Given the description of an element on the screen output the (x, y) to click on. 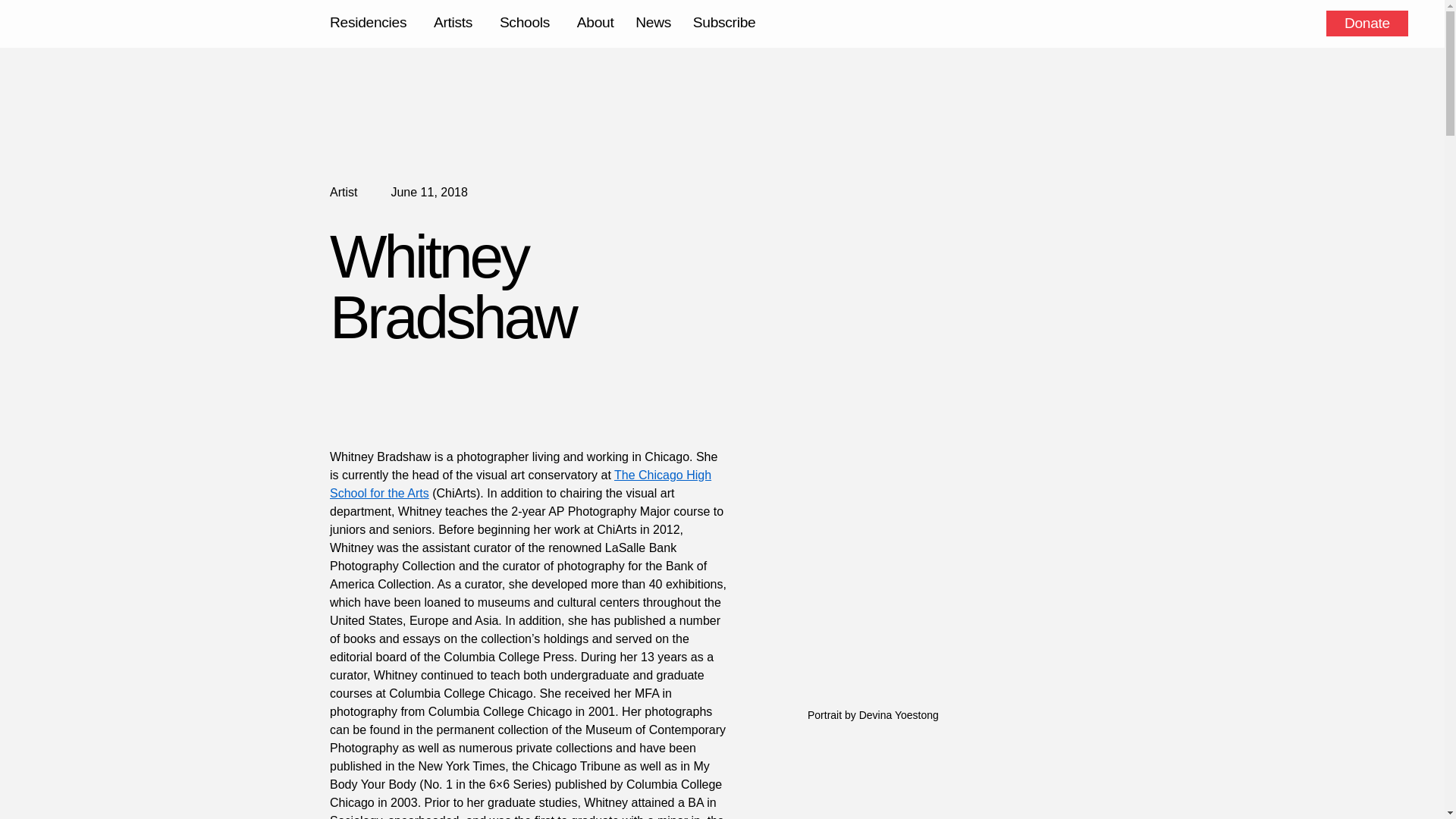
Subscribe (724, 22)
Artists (455, 22)
Donate (1366, 23)
News (652, 22)
Residencies (371, 22)
About (595, 22)
Schools (526, 22)
